Given the description of an element on the screen output the (x, y) to click on. 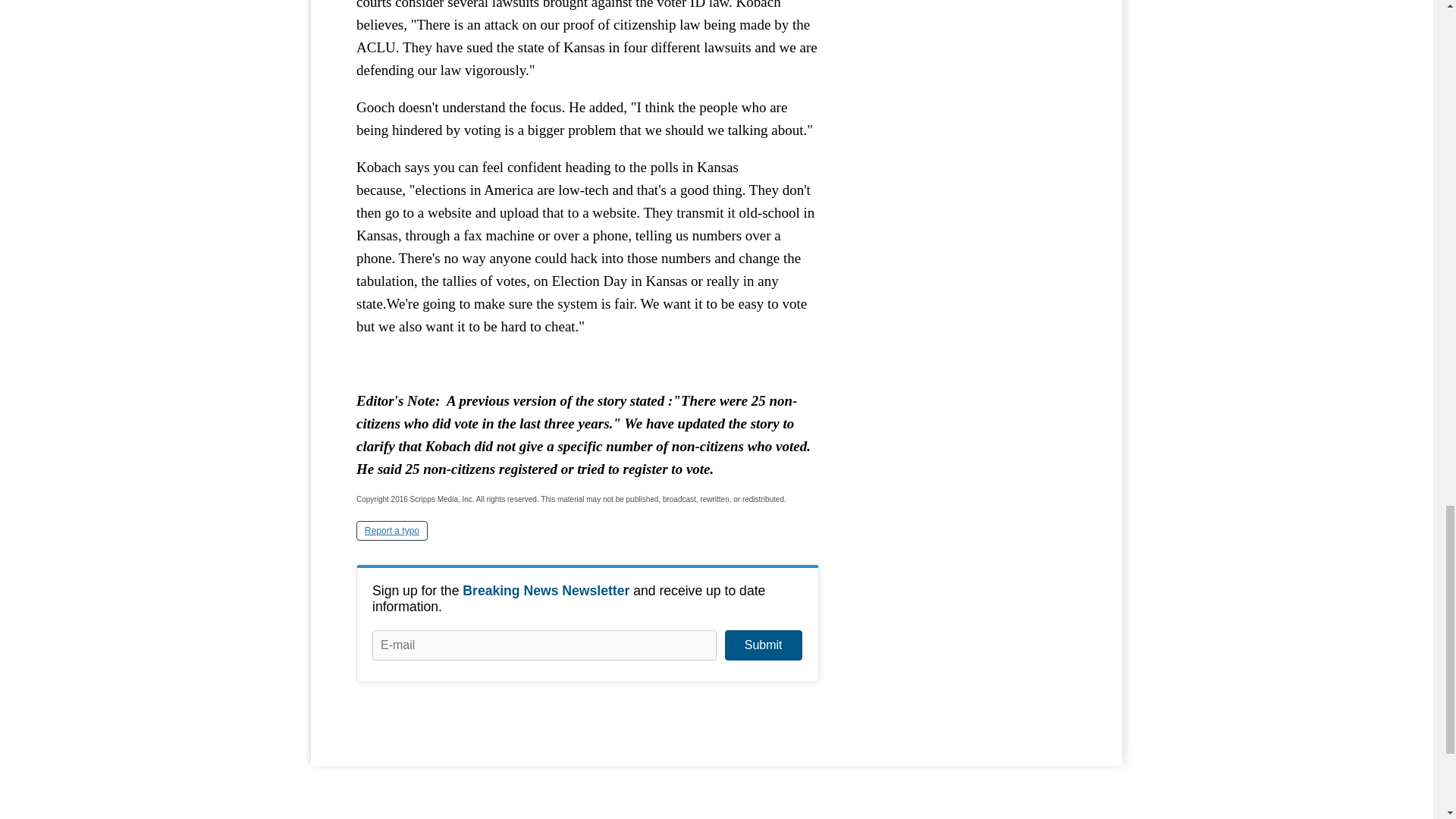
Submit (763, 644)
